Given the description of an element on the screen output the (x, y) to click on. 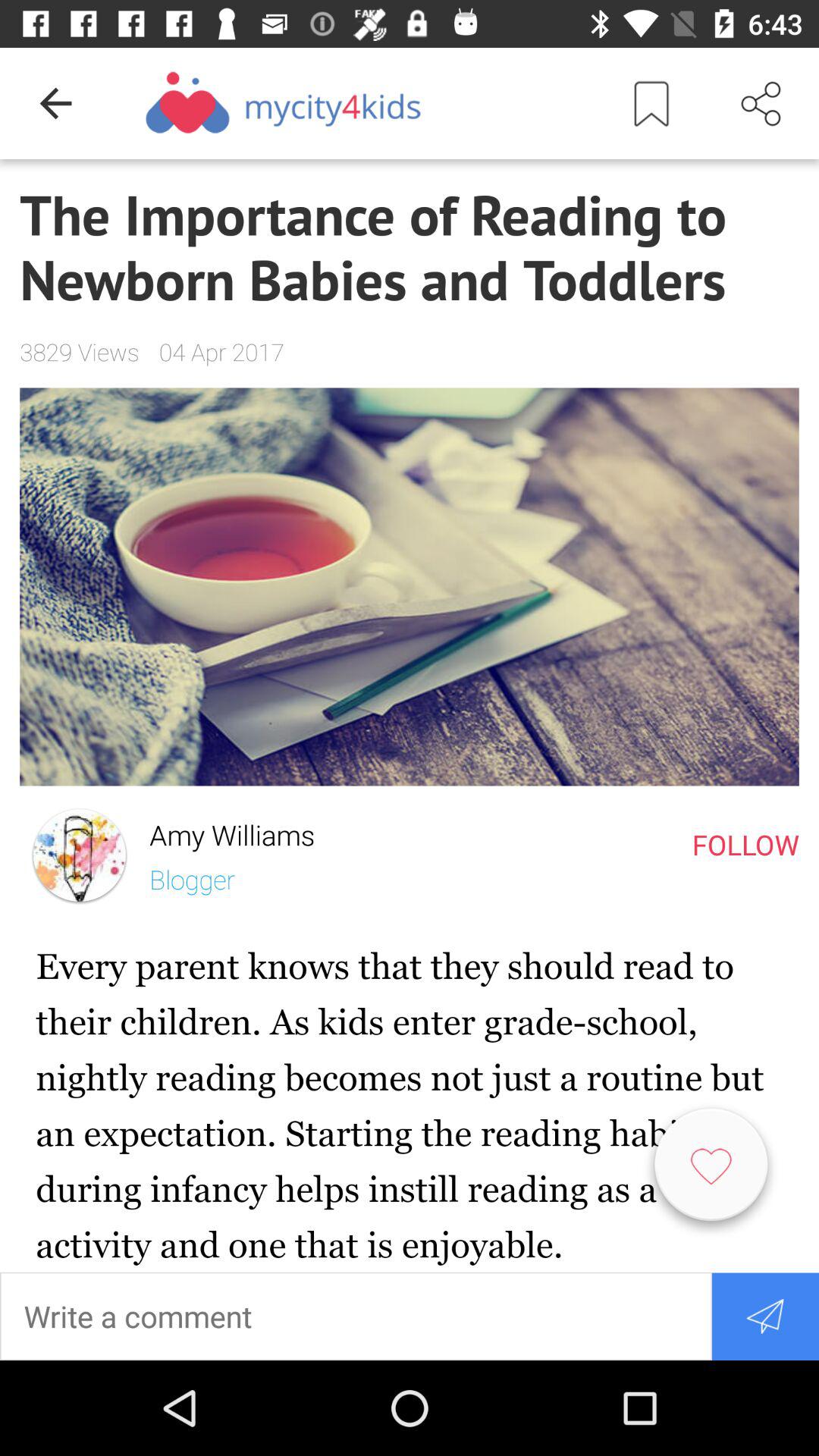
turn off item on the right (745, 844)
